Given the description of an element on the screen output the (x, y) to click on. 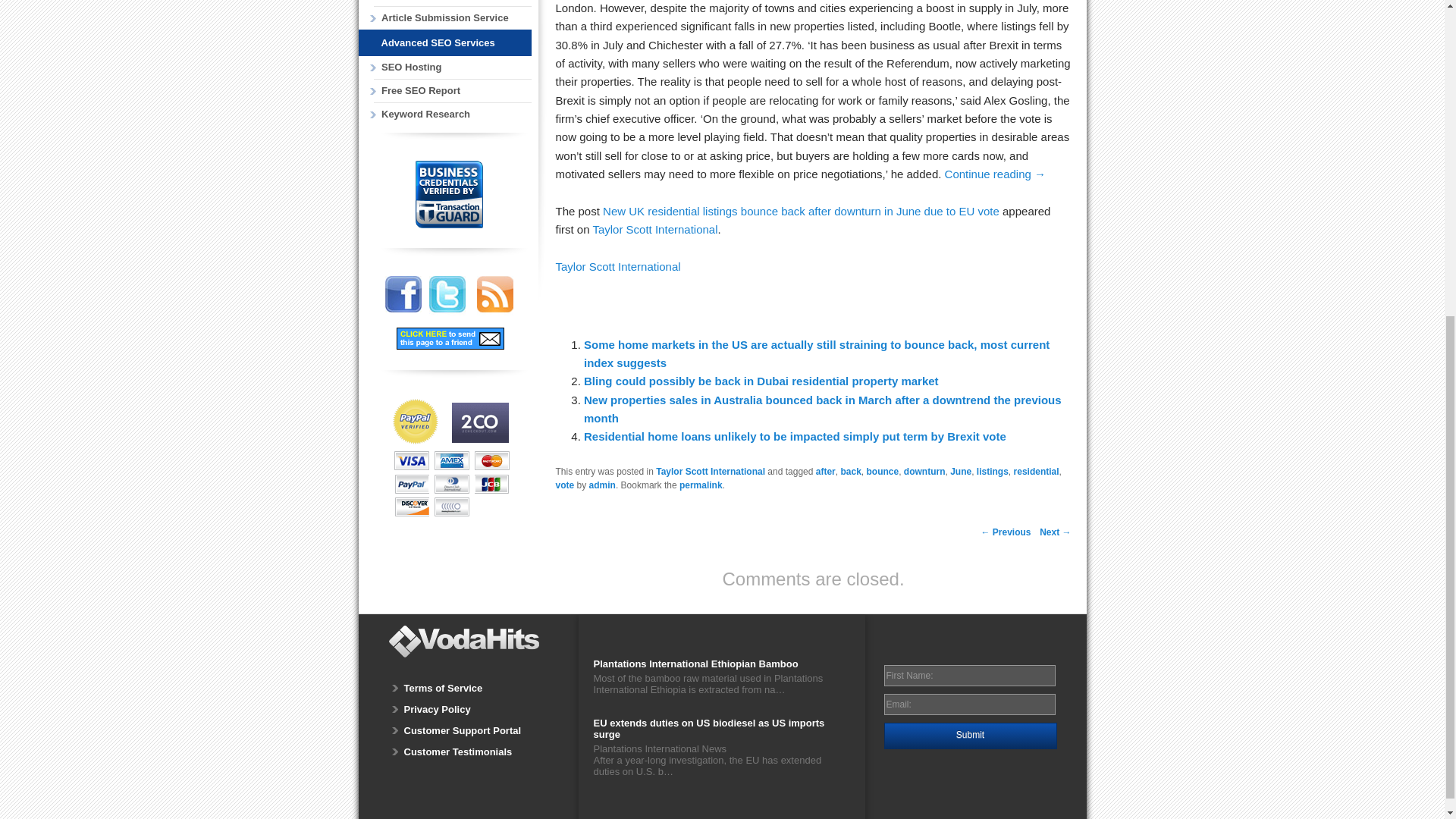
EU extends duties on US biodiesel as US imports surge (720, 729)
permalink (700, 484)
admin (602, 484)
Plantations International Ethiopian Bamboo (720, 665)
Taylor Scott International (710, 471)
Submit (970, 735)
Taylor Scott International (654, 228)
listings (992, 471)
back (850, 471)
Email: (969, 703)
vote (563, 484)
